Given the description of an element on the screen output the (x, y) to click on. 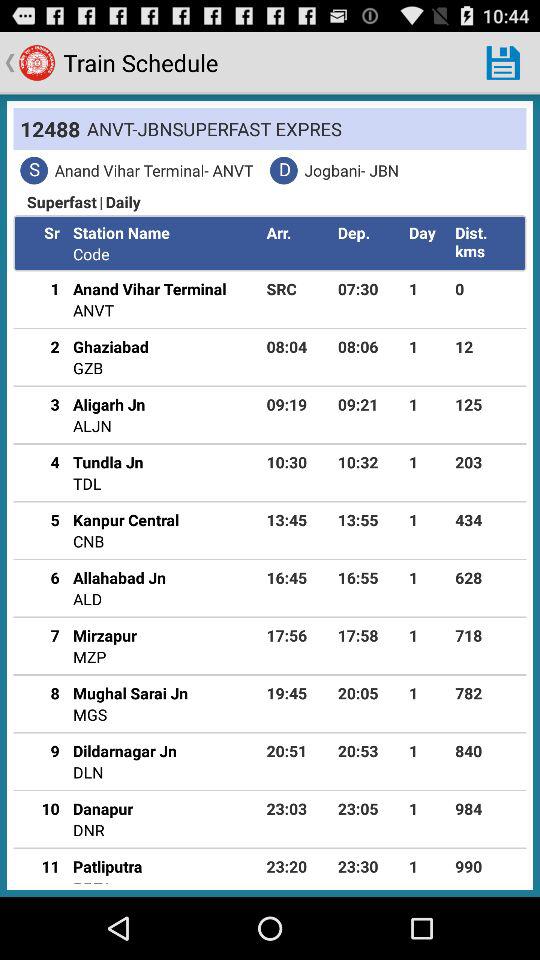
open the 125 (487, 404)
